Given the description of an element on the screen output the (x, y) to click on. 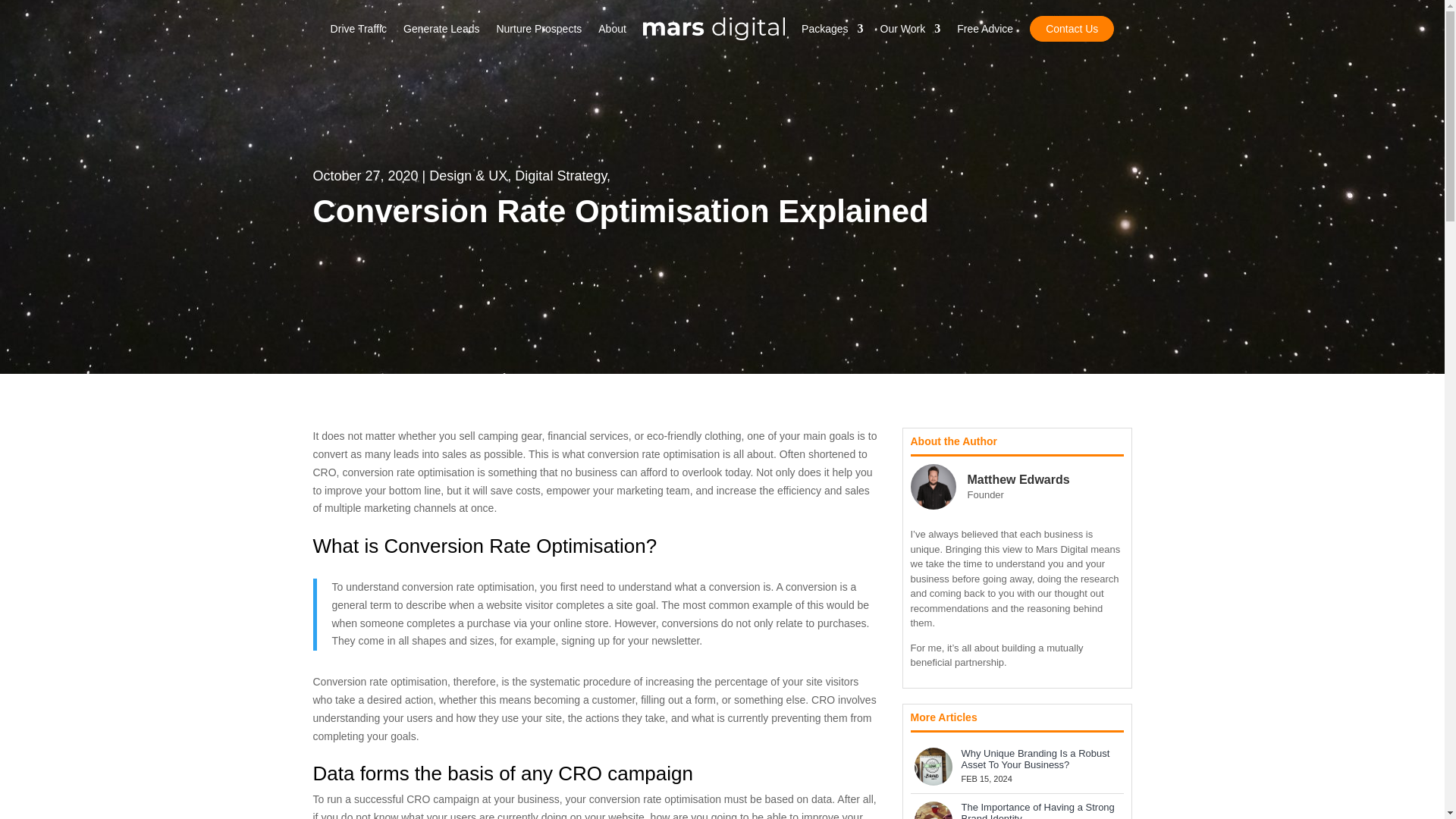
Packages (832, 28)
Nurture Prospects (538, 28)
Drive Traffic (358, 28)
Free Advice (984, 28)
Contact Us (1071, 28)
Our Work (910, 28)
Digital Strategy (561, 175)
Generate Leads (441, 28)
